Given the description of an element on the screen output the (x, y) to click on. 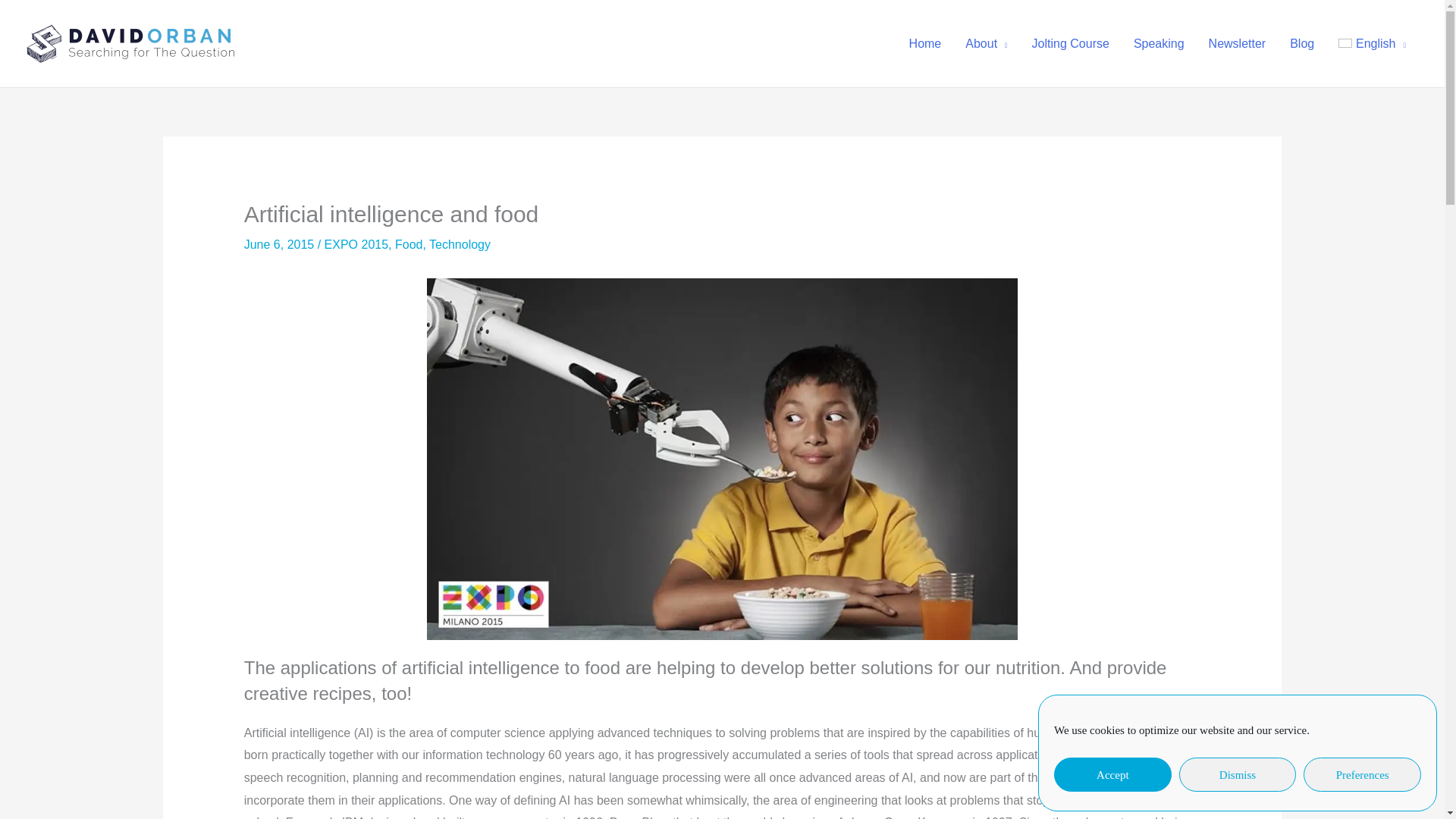
About (986, 42)
English (1372, 42)
Blog (1302, 42)
English (1372, 42)
Home (924, 42)
Dismiss (1238, 774)
Preferences (1362, 774)
Newsletter (1237, 42)
Accept (1113, 774)
Speaking (1158, 42)
